Given the description of an element on the screen output the (x, y) to click on. 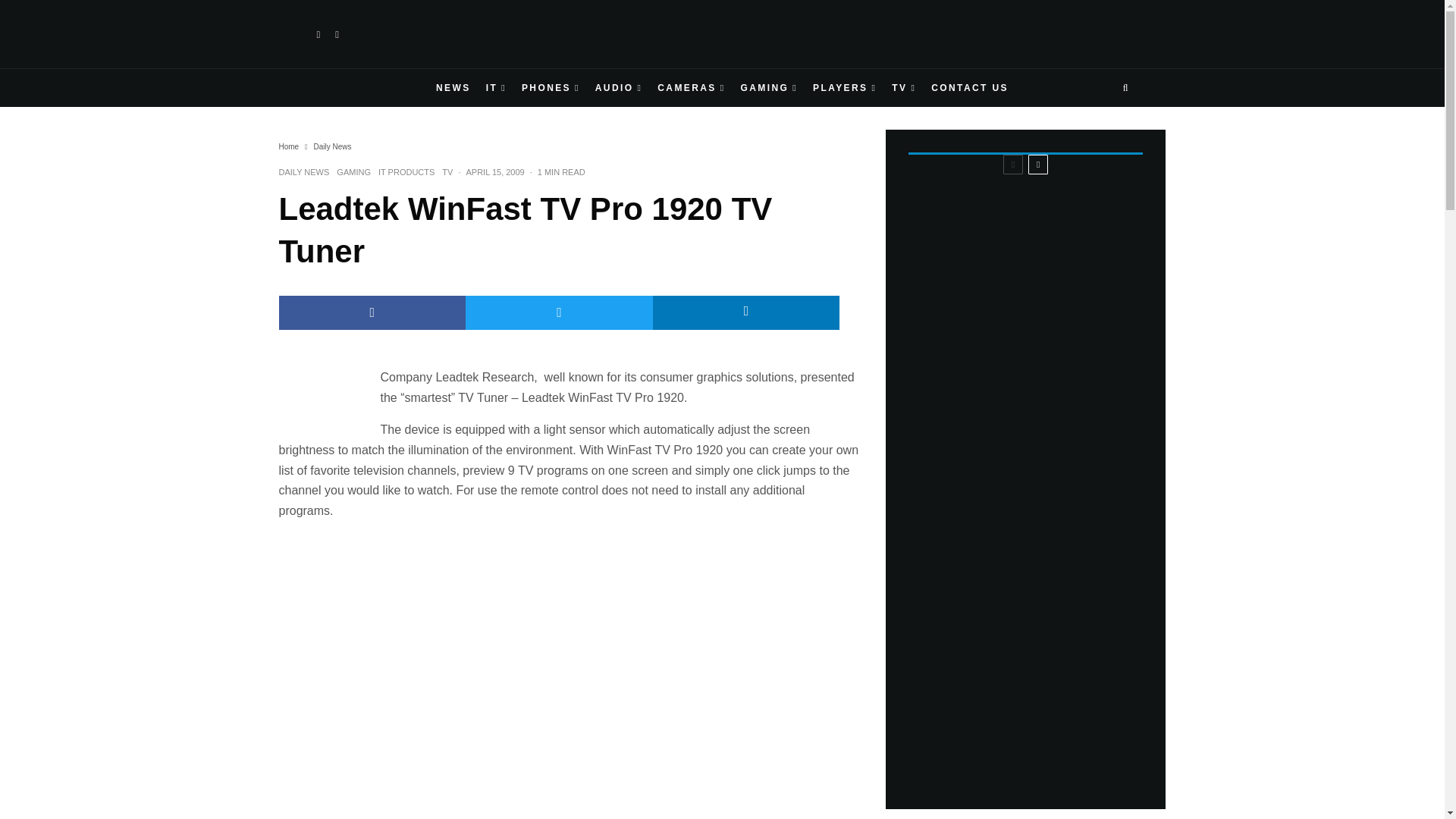
IT (496, 87)
NEWS (453, 87)
PHONES (550, 87)
